Given the description of an element on the screen output the (x, y) to click on. 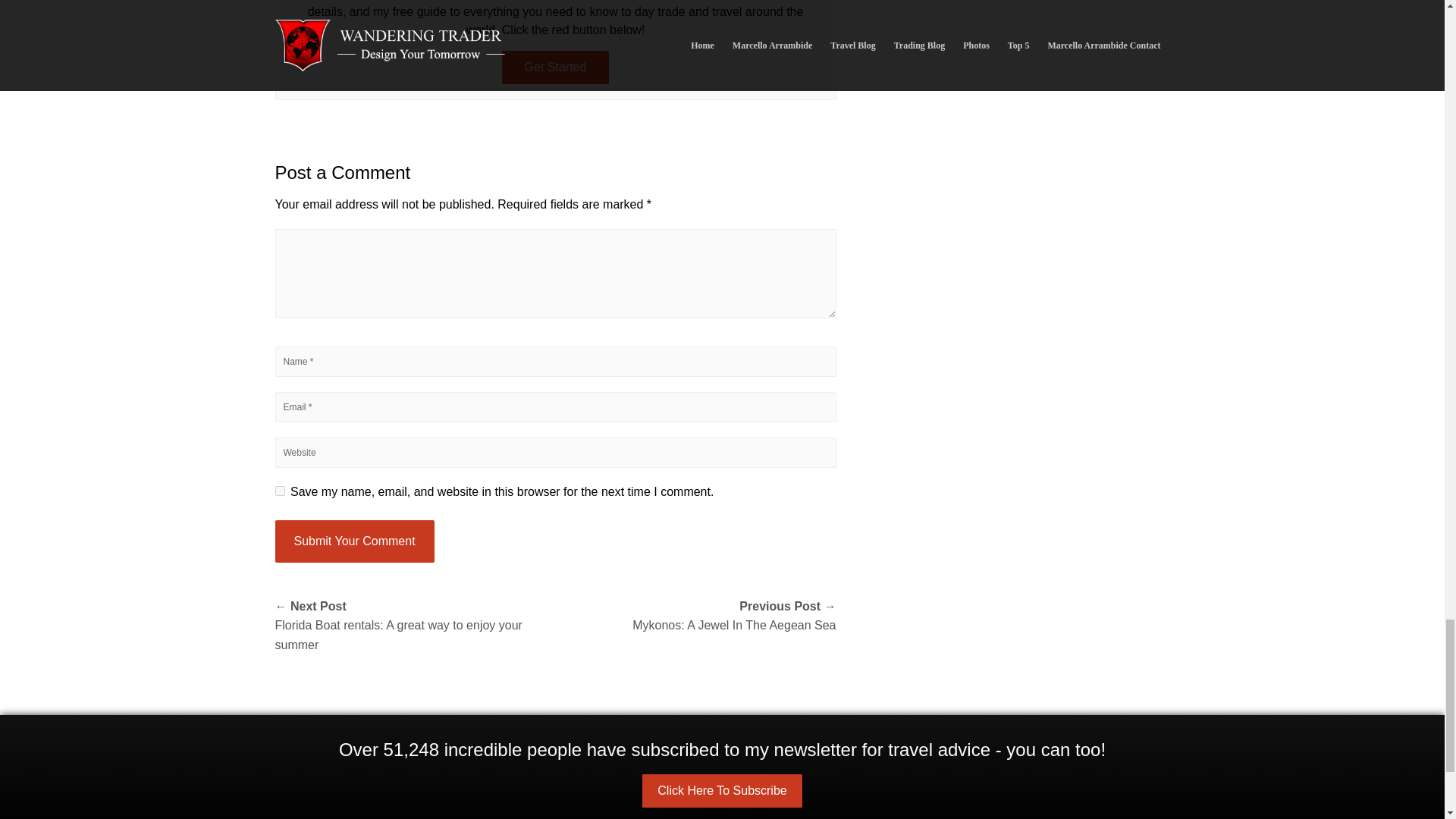
Submit Your Comment (354, 541)
yes (279, 491)
Florida Boat rentals: A great way to enjoy your summer (414, 626)
Get Started (556, 67)
Mykonos: A Jewel In The Aegean Sea (694, 616)
Submit Your Comment (354, 541)
